Given the description of an element on the screen output the (x, y) to click on. 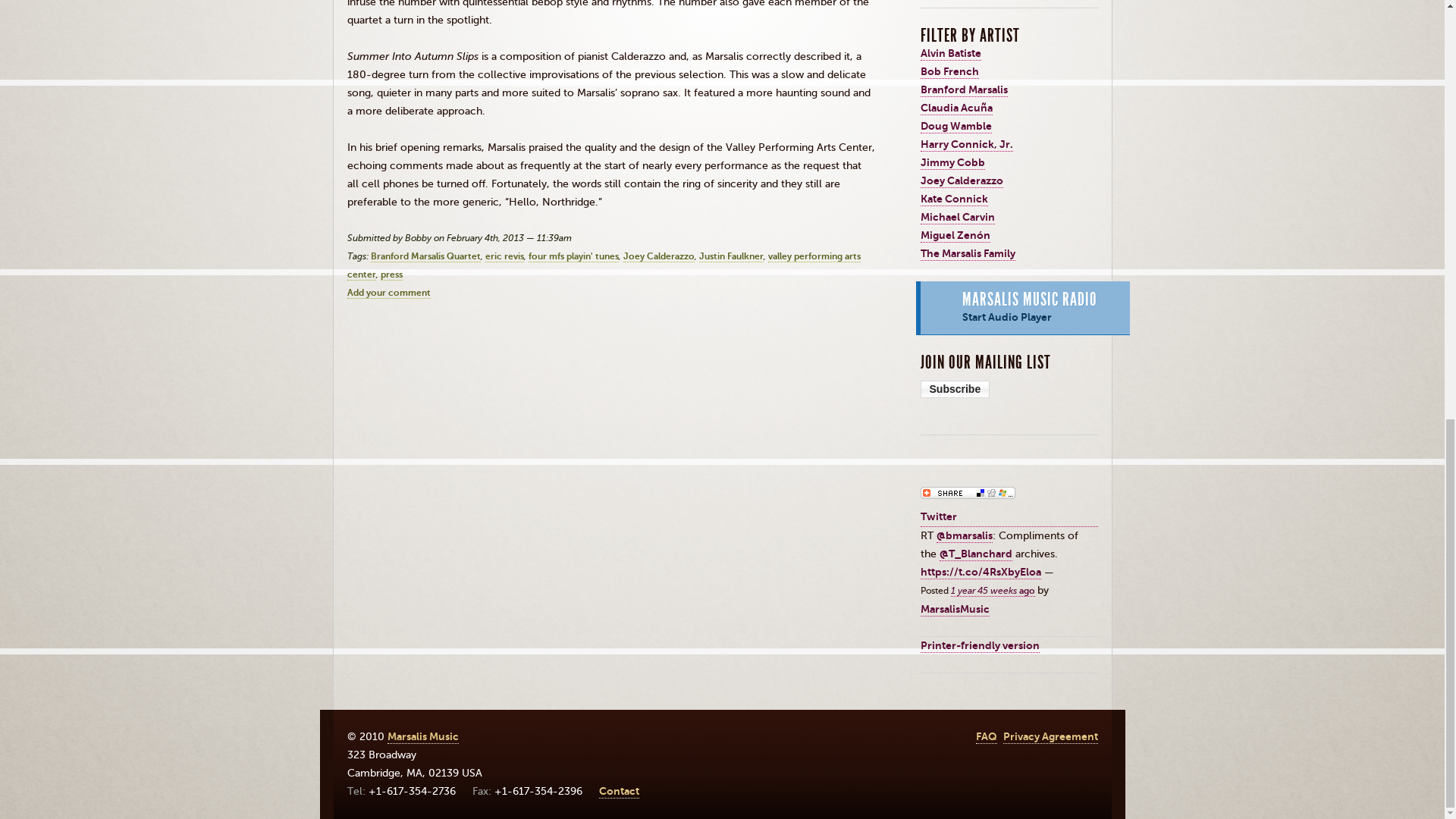
Joey Calderazzo (658, 256)
Add your comment (388, 292)
Branford Marsalis Quartet (424, 256)
eric revis (504, 256)
Justin Faulkner (730, 256)
Share your thoughts and opinions related to this posting. (388, 292)
valley performing arts center (603, 265)
four mfs playin' tunes (572, 256)
News posts that reference press. (391, 274)
press (391, 274)
